Given the description of an element on the screen output the (x, y) to click on. 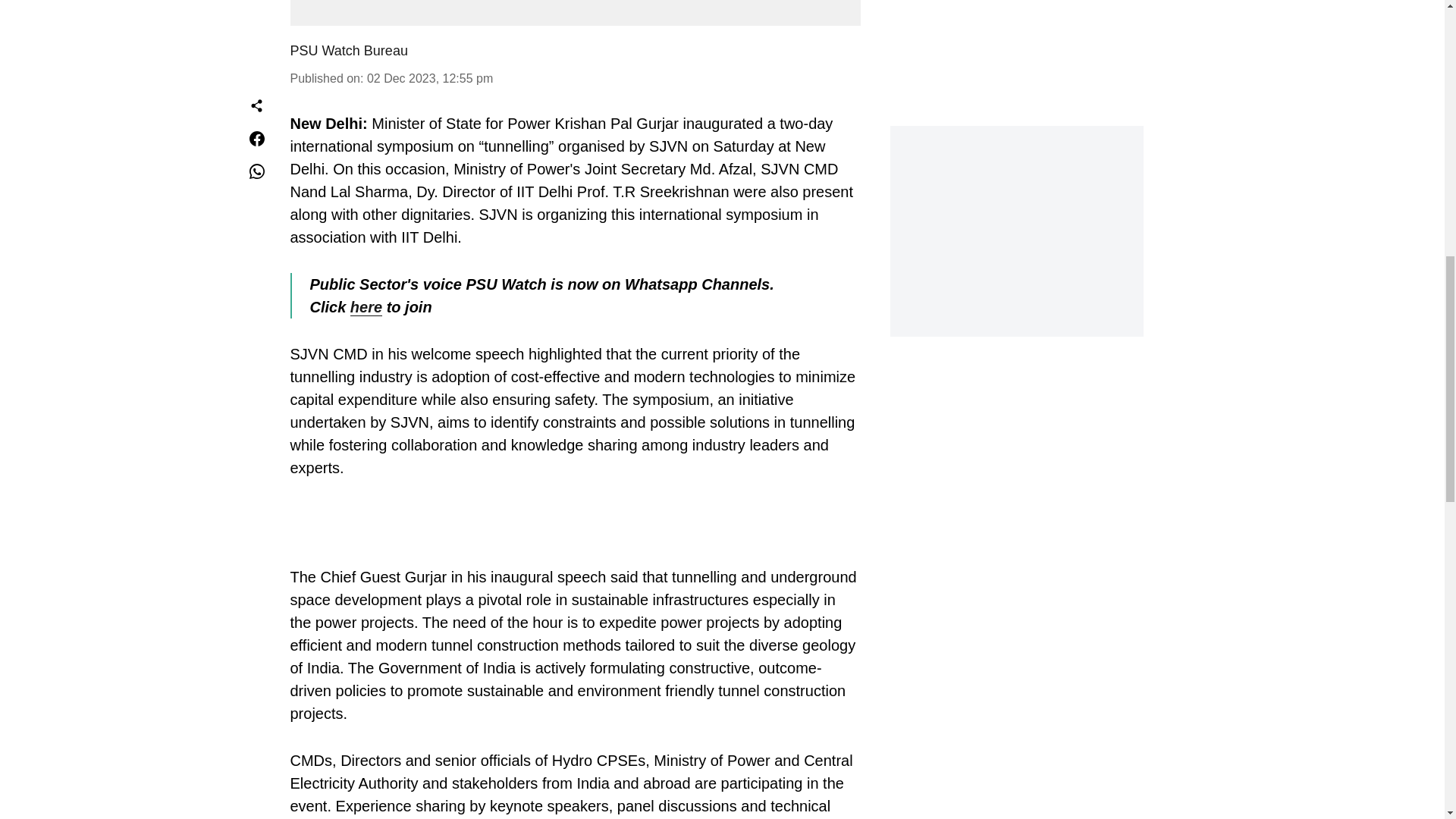
2023-12-02 12:55 (429, 78)
PSU Watch Bureau (348, 50)
here (365, 307)
